Given the description of an element on the screen output the (x, y) to click on. 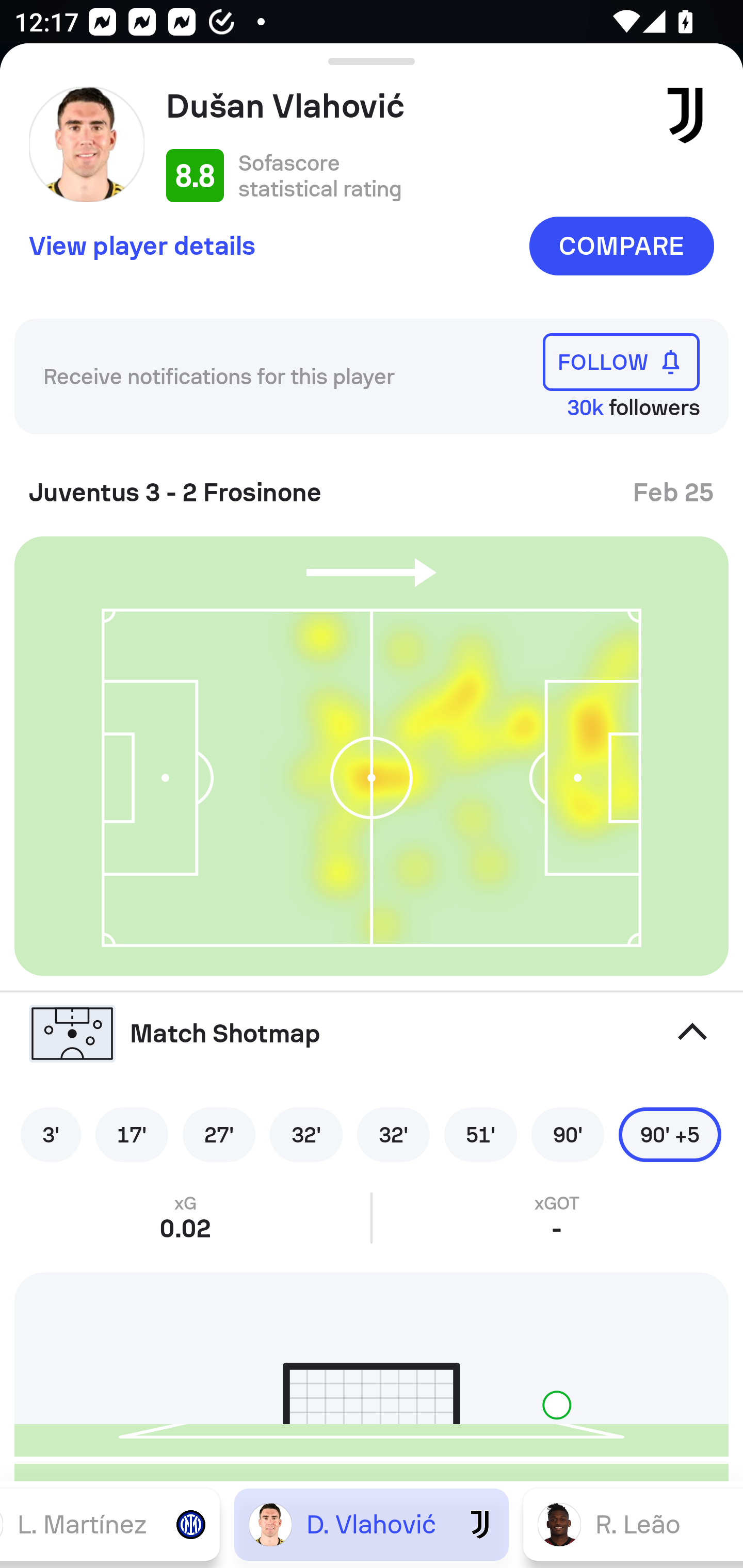
Dušan Vlahović (403, 105)
COMPARE (621, 245)
View player details (141, 245)
FOLLOW (621, 361)
Juventus 3 - 2 Frosinone Feb 25 (371, 485)
Match Shotmap (371, 1033)
3' (50, 1134)
17' (131, 1134)
27' (218, 1134)
32' (305, 1134)
32' (392, 1134)
51' (480, 1134)
90' (567, 1134)
90' +5 (669, 1134)
L. Martínez (109, 1524)
D. Vlahović (371, 1524)
R. Leão (633, 1524)
